Given the description of an element on the screen output the (x, y) to click on. 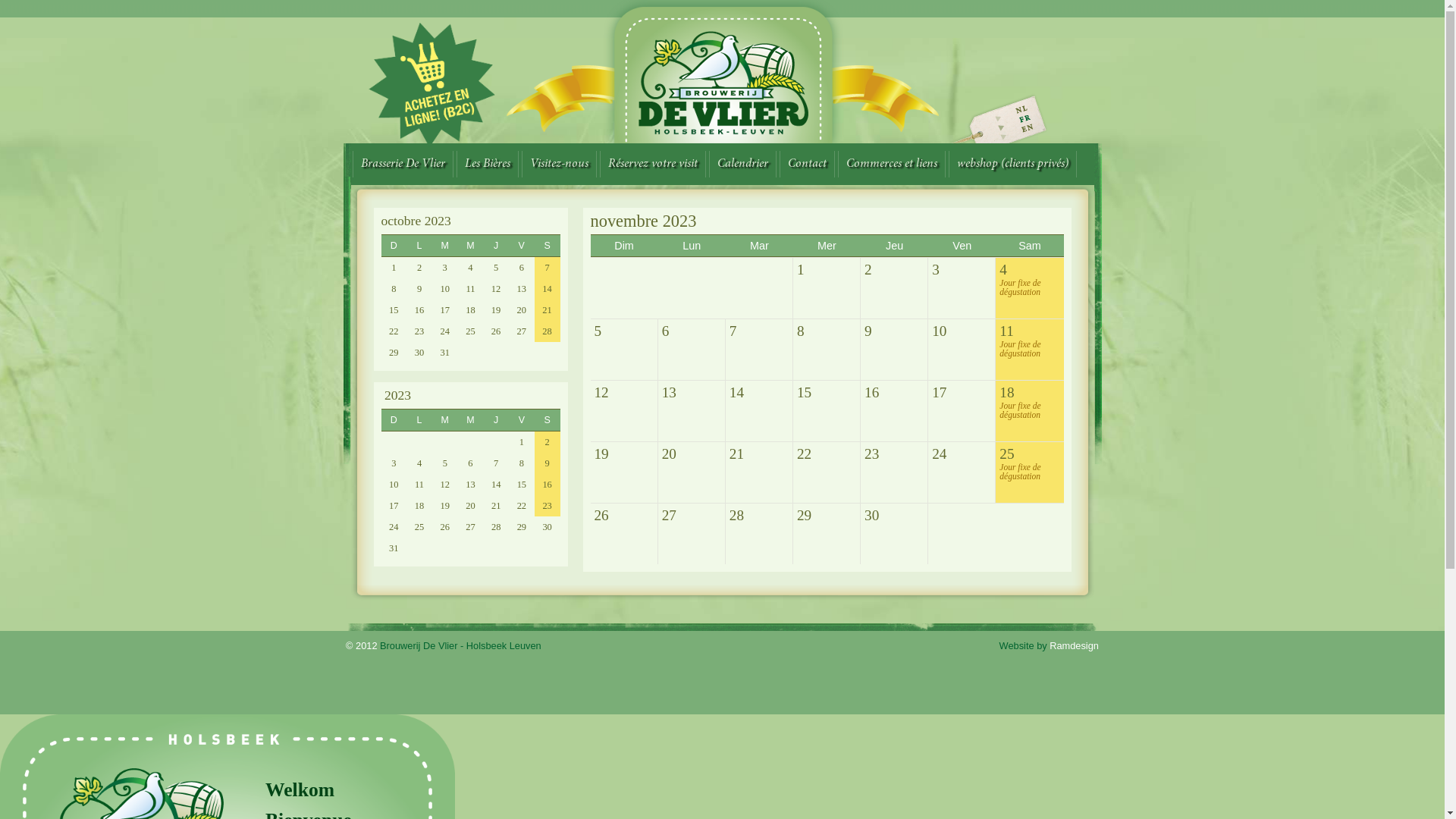
Ramdesign Element type: text (1073, 645)
Contact Element type: text (806, 163)
Visitez-nous Element type: text (558, 163)
Calendrier Element type: text (741, 163)
Commerces et liens Element type: text (890, 163)
Brasserie De Vlier Element type: text (401, 163)
